Given the description of an element on the screen output the (x, y) to click on. 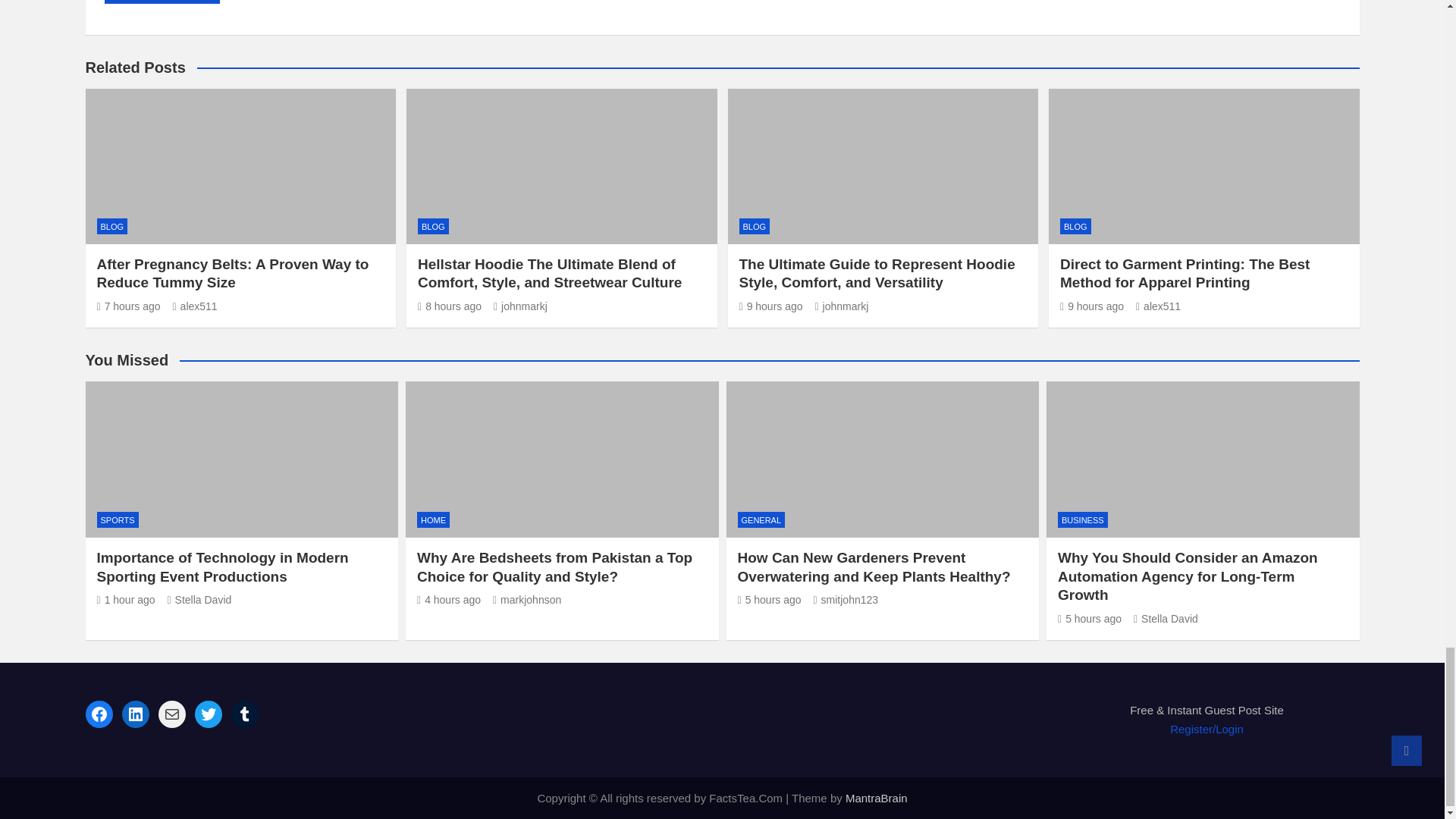
After Pregnancy Belts: A Proven Way to Reduce Tummy Size (128, 306)
BLOG (112, 226)
alex511 (193, 306)
Post Comment (162, 2)
Post Comment (162, 2)
After Pregnancy Belts: A Proven Way to Reduce Tummy Size (233, 273)
